Given the description of an element on the screen output the (x, y) to click on. 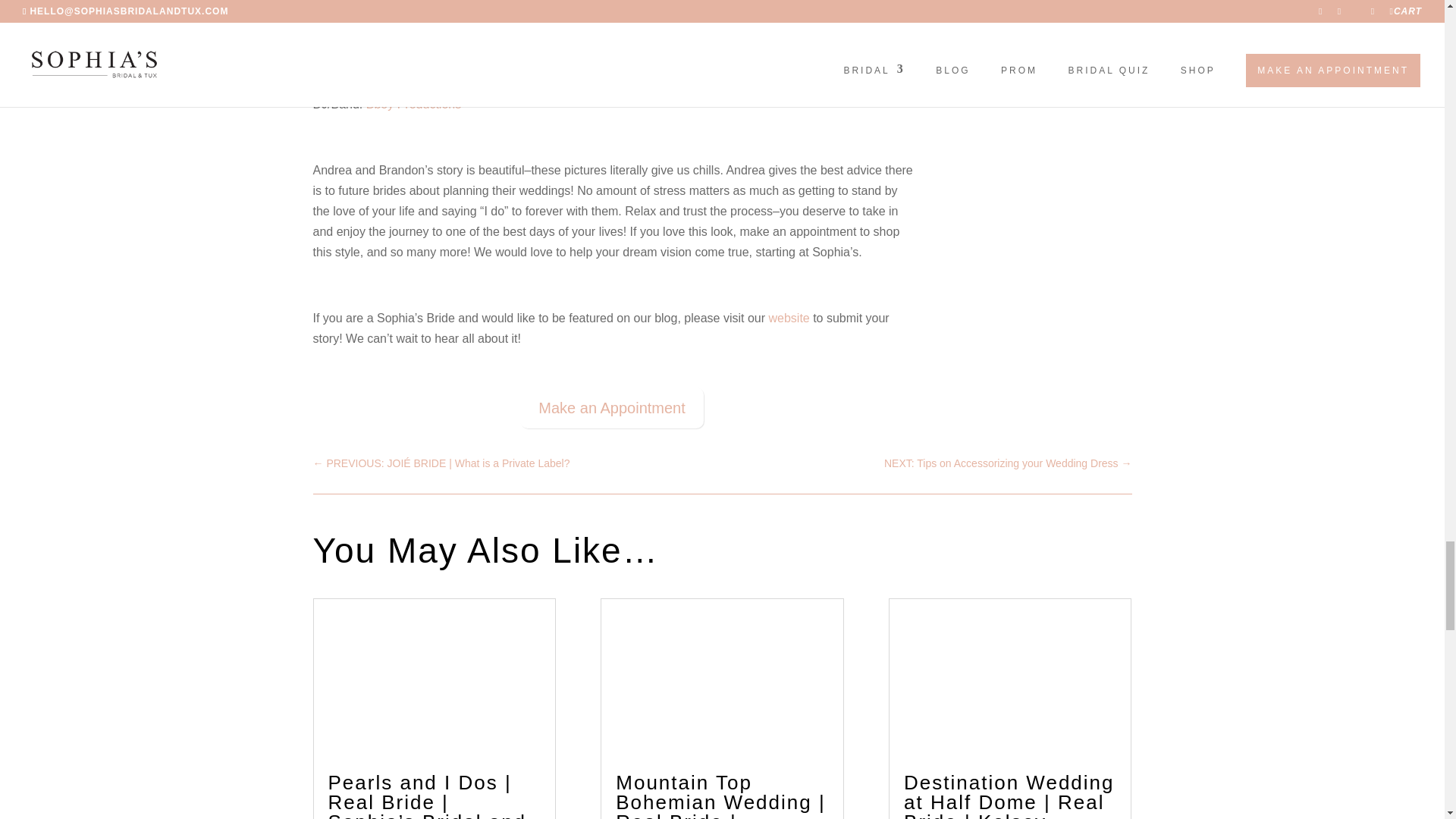
John Pyle (419, 3)
website (788, 318)
Make an Appointment (611, 407)
Bboy Productions (413, 103)
